Given the description of an element on the screen output the (x, y) to click on. 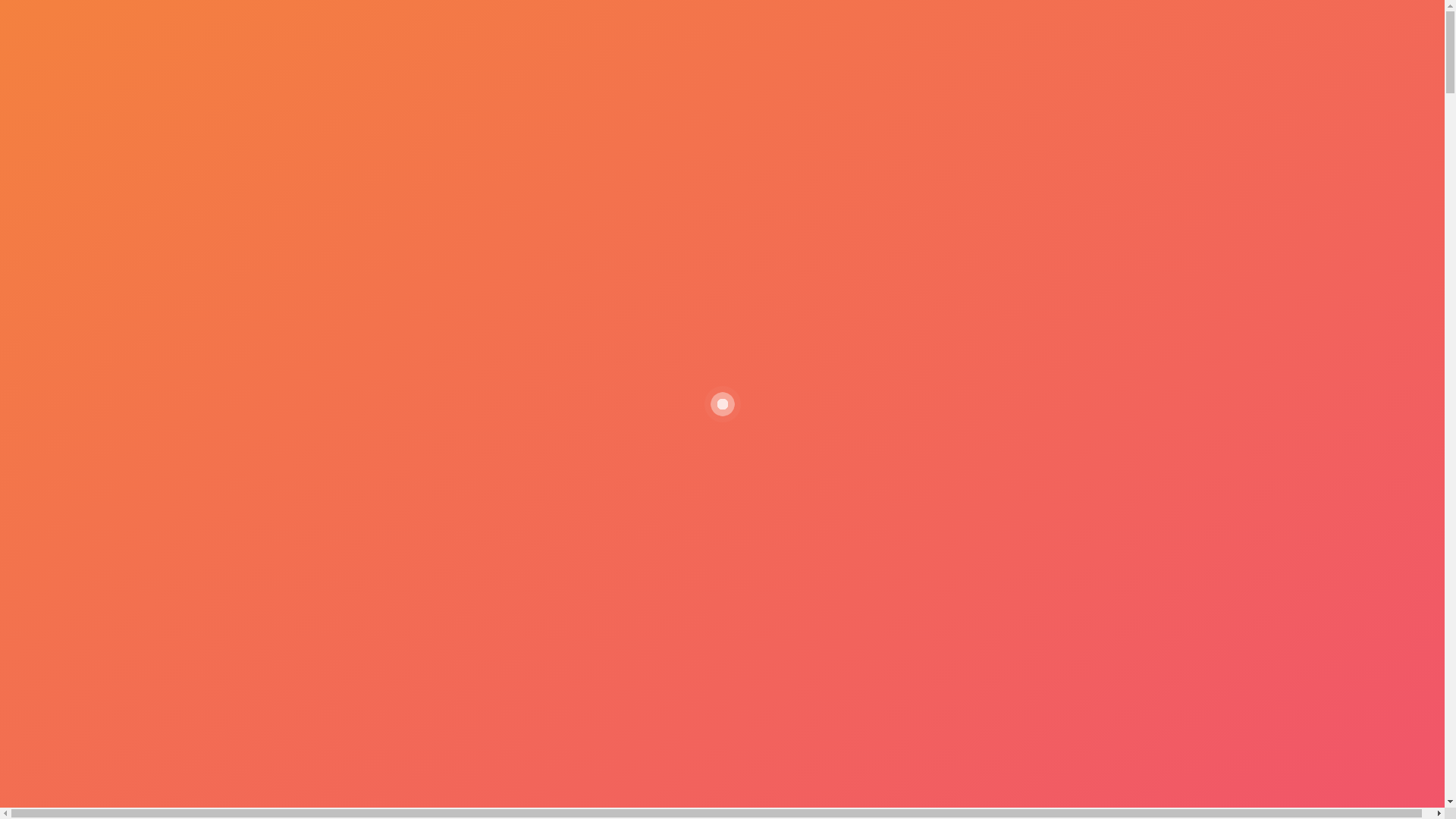
WHY CHOOSE MUDBOTS Element type: text (654, 55)
PRESS RELEASE Element type: text (1007, 55)
GET STARTED TODAY Element type: text (382, 501)
Your browser does not support HTML5 video. Element type: text (937, 459)
REGISTER NOW Element type: text (1133, 55)
HOME Element type: text (472, 55)
ABOUT Element type: text (539, 55)
USES & BENEFITS Element type: text (798, 55)
Compare Concrete Printer Companies Part 1 Element type: text (938, 476)
FRANCHISE Element type: text (906, 55)
